Given the description of an element on the screen output the (x, y) to click on. 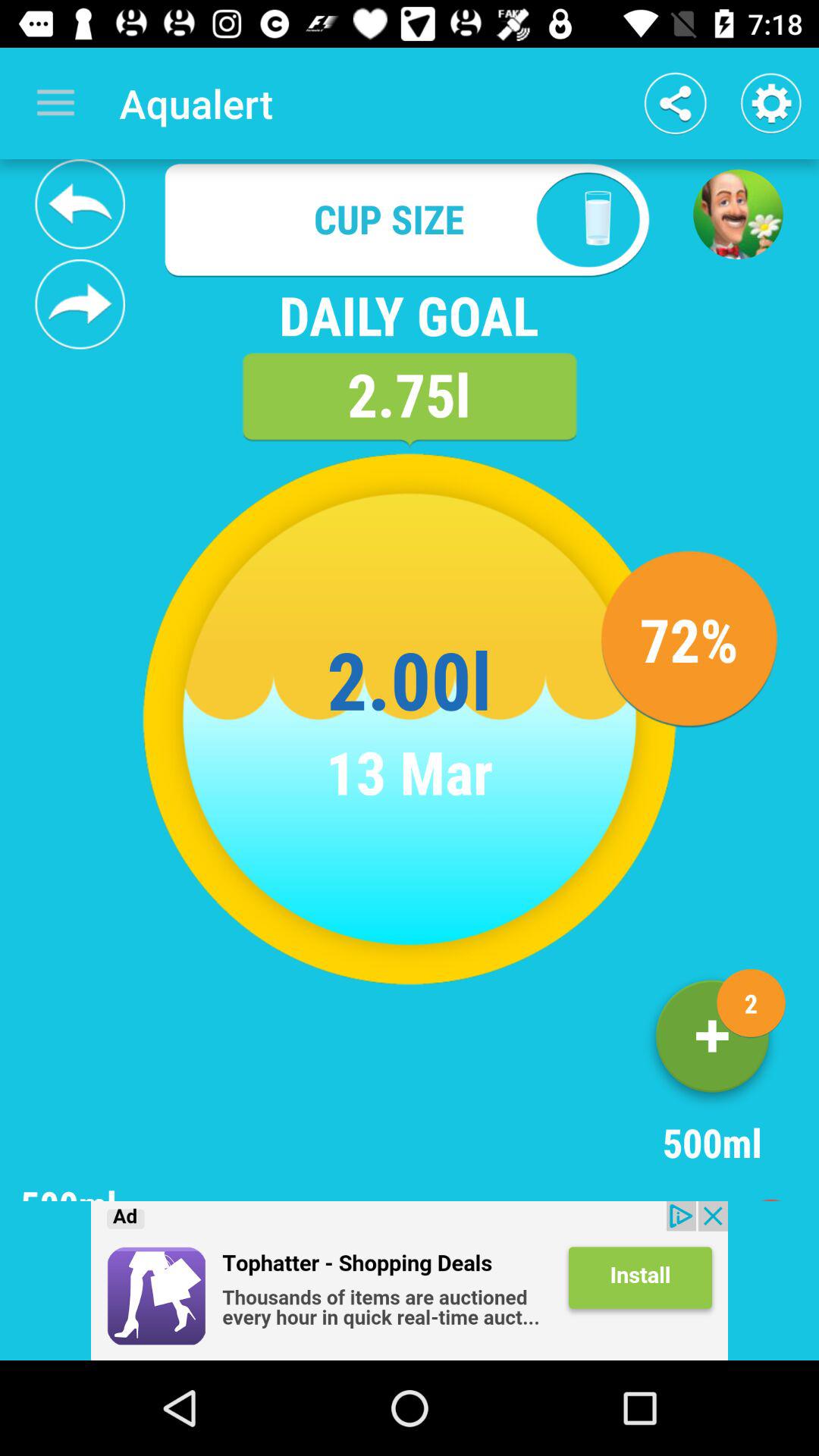
play a game (738, 214)
